Given the description of an element on the screen output the (x, y) to click on. 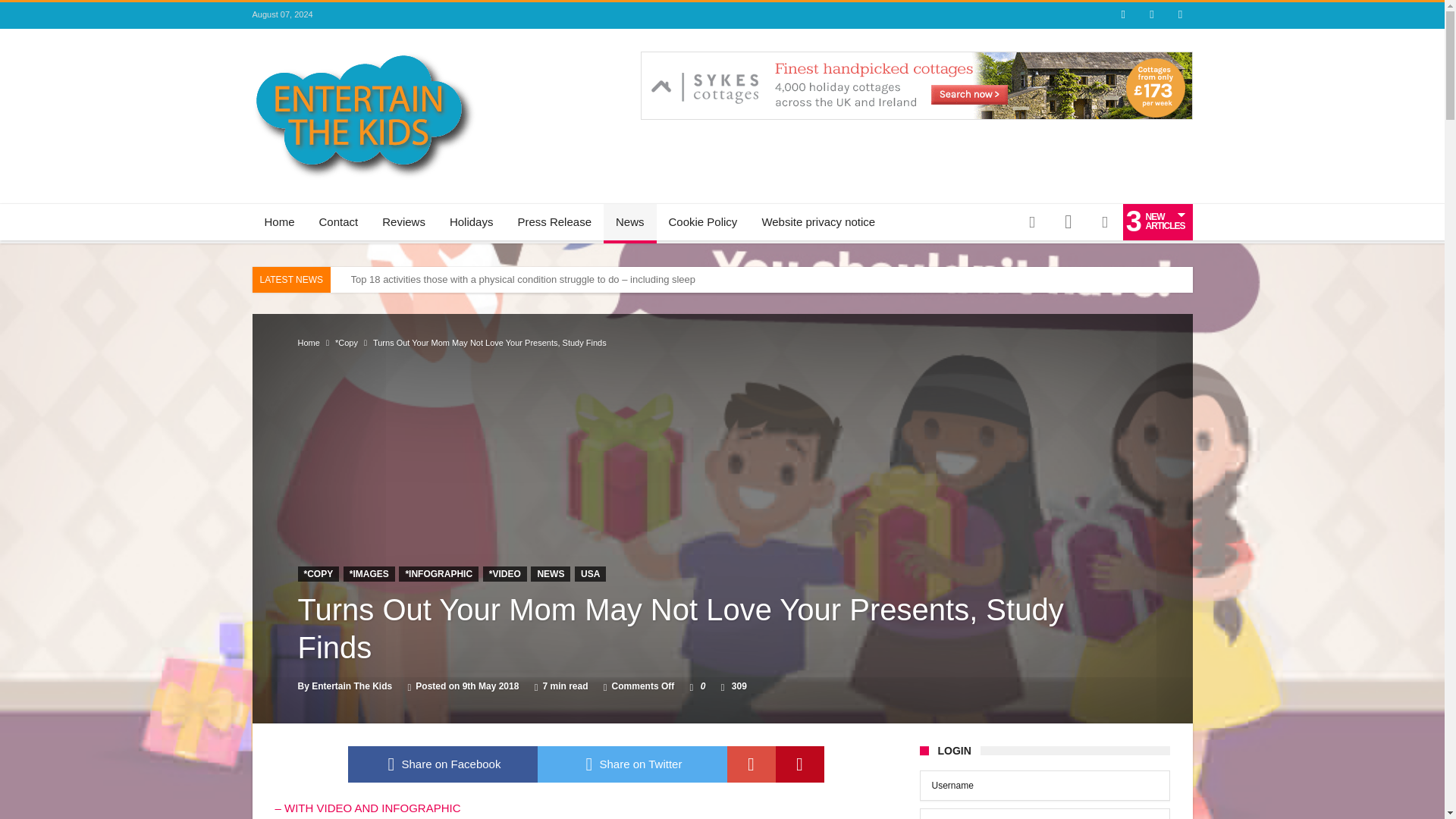
Press Release (554, 221)
News (630, 221)
Facebook (1122, 15)
Website privacy notice (817, 221)
Password (1043, 813)
Twitter (1151, 15)
Home (307, 342)
Entertain the kids (363, 50)
google (750, 764)
I like this article (691, 685)
Cookie Policy (702, 221)
twitter (631, 764)
Reviews (403, 221)
pinterest (799, 764)
Rss (1179, 15)
